Given the description of an element on the screen output the (x, y) to click on. 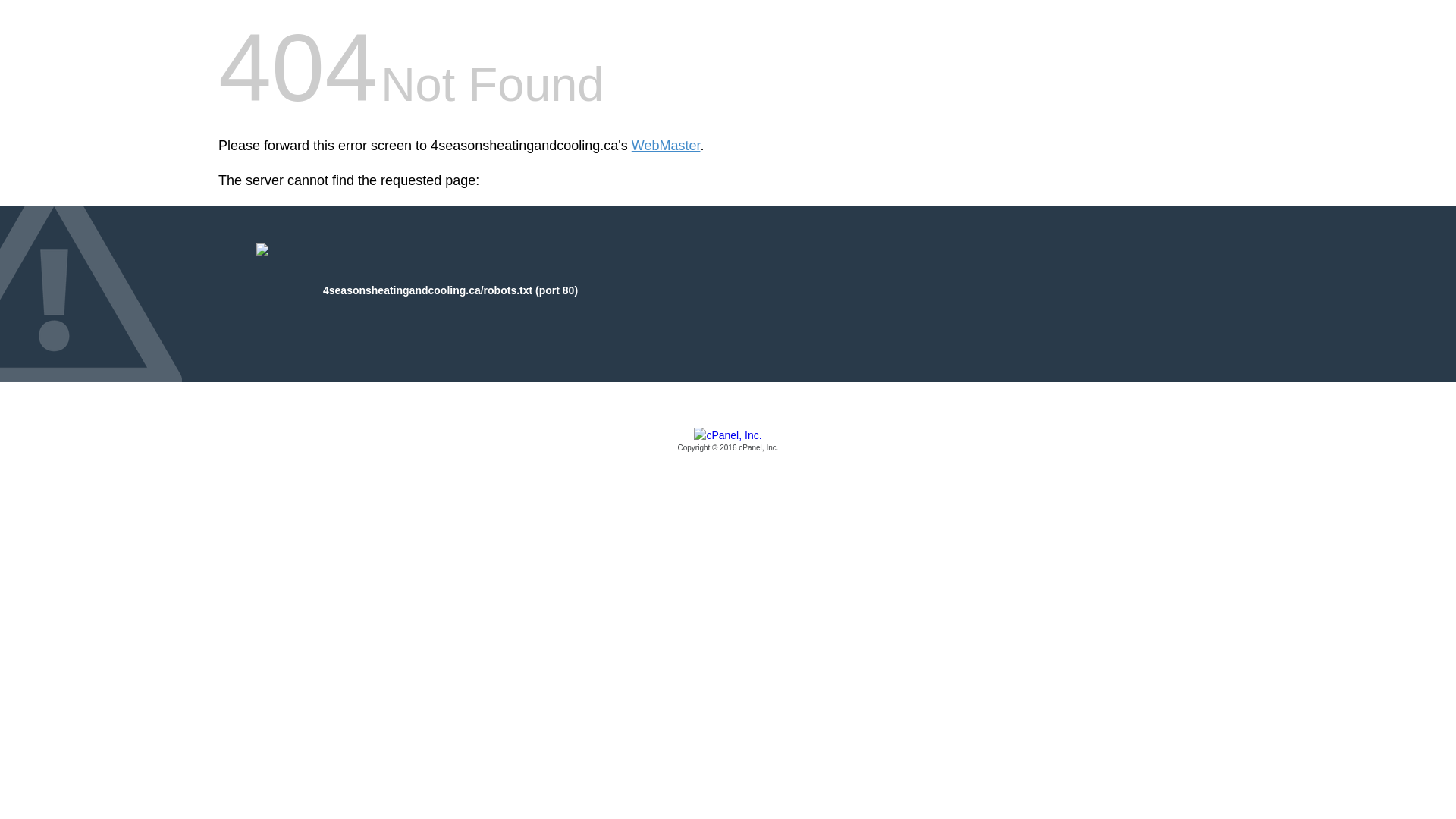
WebMaster Element type: text (665, 145)
